Given the description of an element on the screen output the (x, y) to click on. 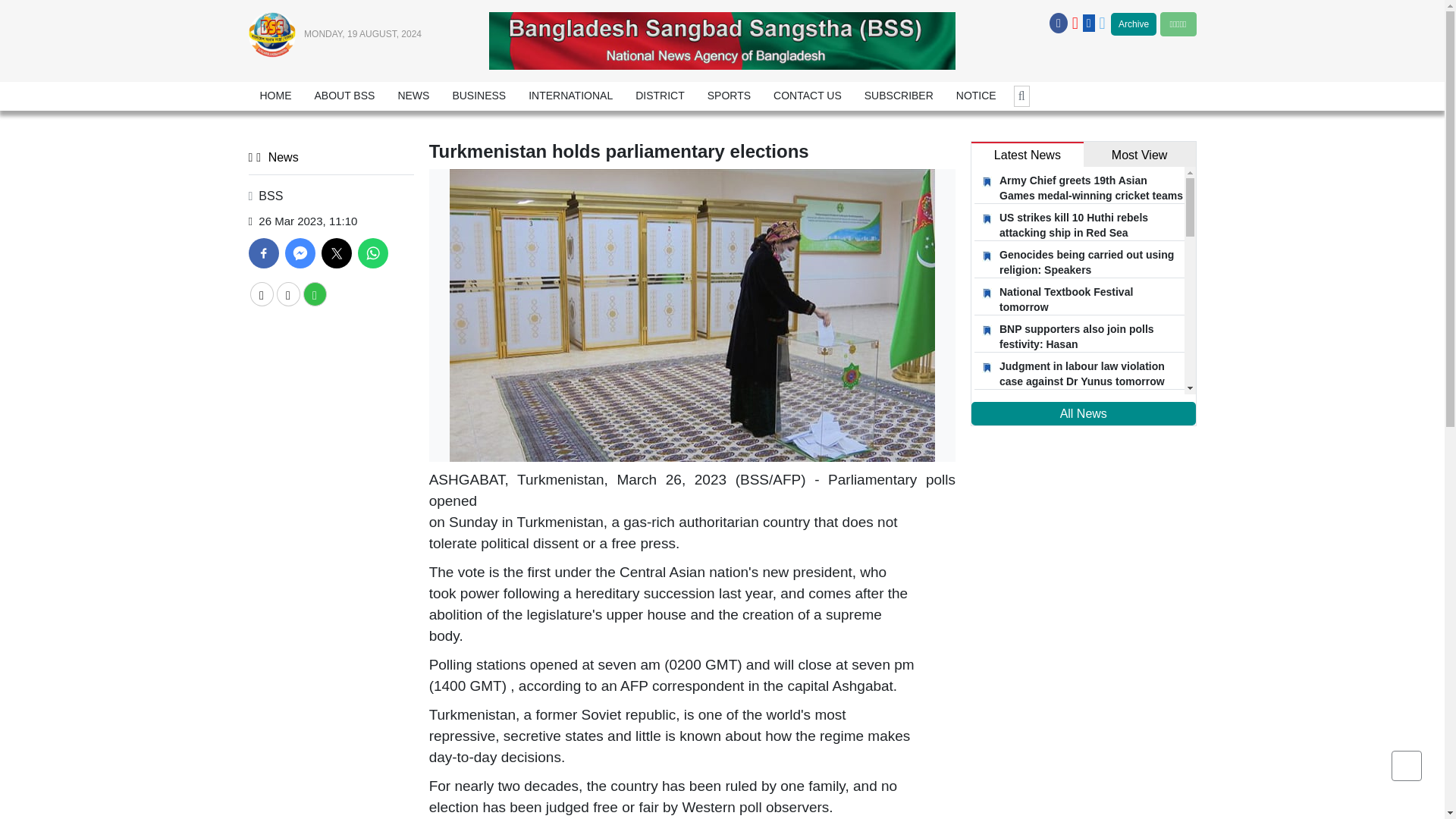
BUSINESS (478, 95)
NOTICE (975, 95)
Print news (314, 293)
Archive (1133, 24)
DISTRICT (659, 95)
 News (274, 156)
ABOUT BSS (344, 95)
NEWS (413, 95)
INTERNATIONAL (570, 95)
SPORTS (728, 95)
